Given the description of an element on the screen output the (x, y) to click on. 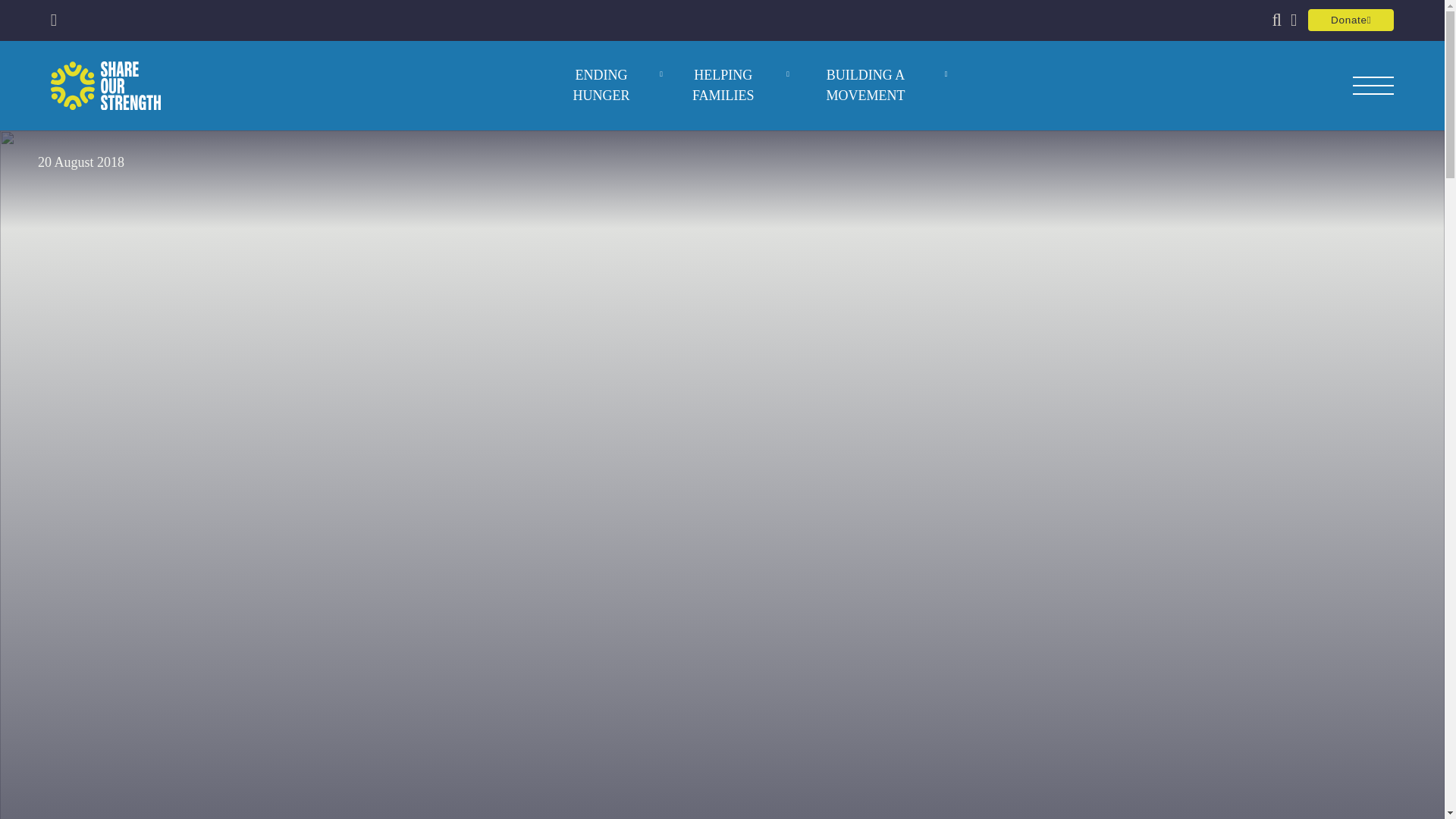
ENDING HUNGER (600, 86)
Donate (1350, 20)
Open LinkedIn in a new tab (53, 19)
Toggle navigation (1372, 85)
Podcasts page (1293, 20)
HELPING FAMILIES (723, 86)
BUILDING A MOVEMENT (865, 86)
